Given the description of an element on the screen output the (x, y) to click on. 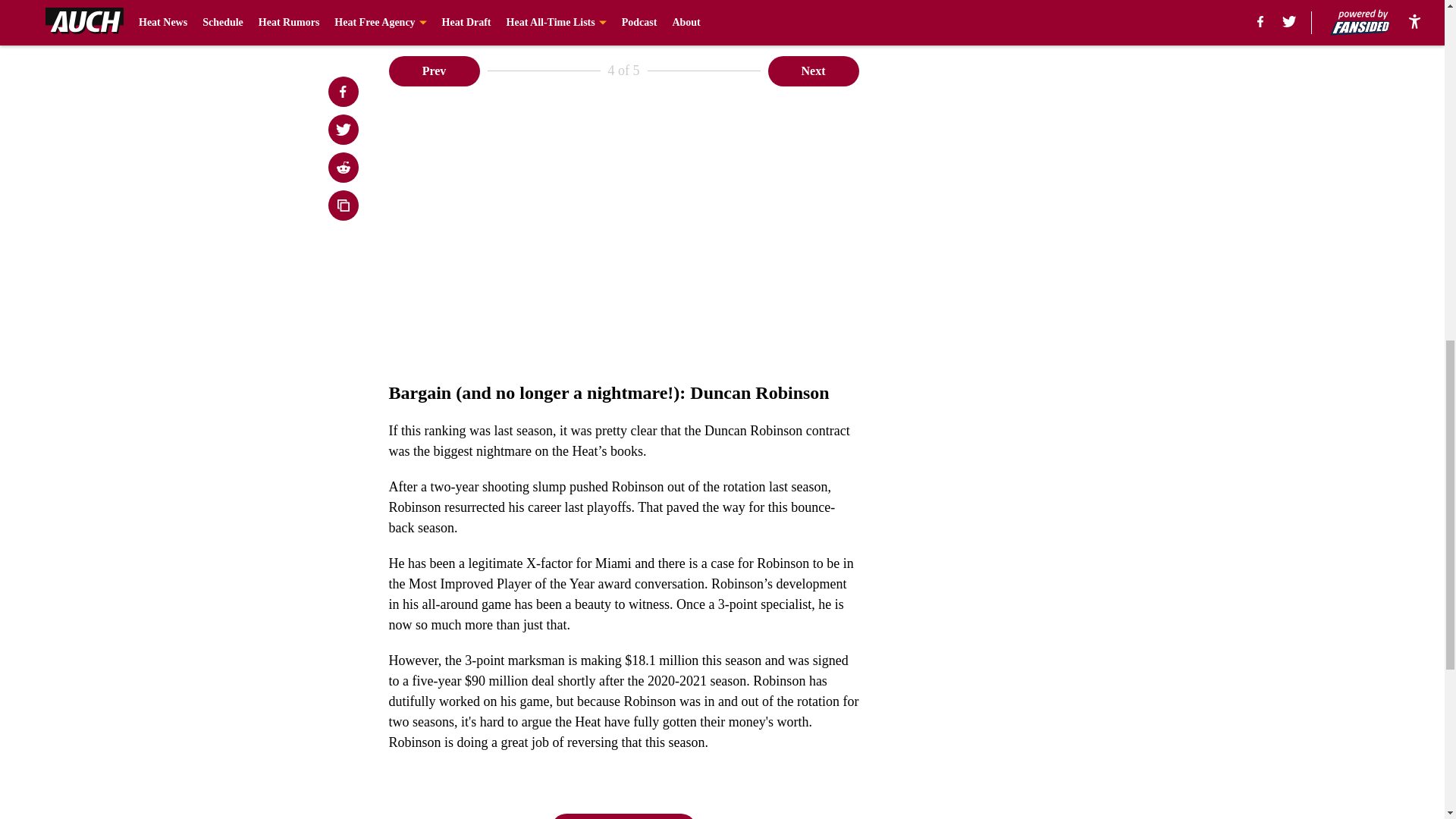
Next (622, 816)
Prev (433, 71)
Next (813, 71)
